Given the description of an element on the screen output the (x, y) to click on. 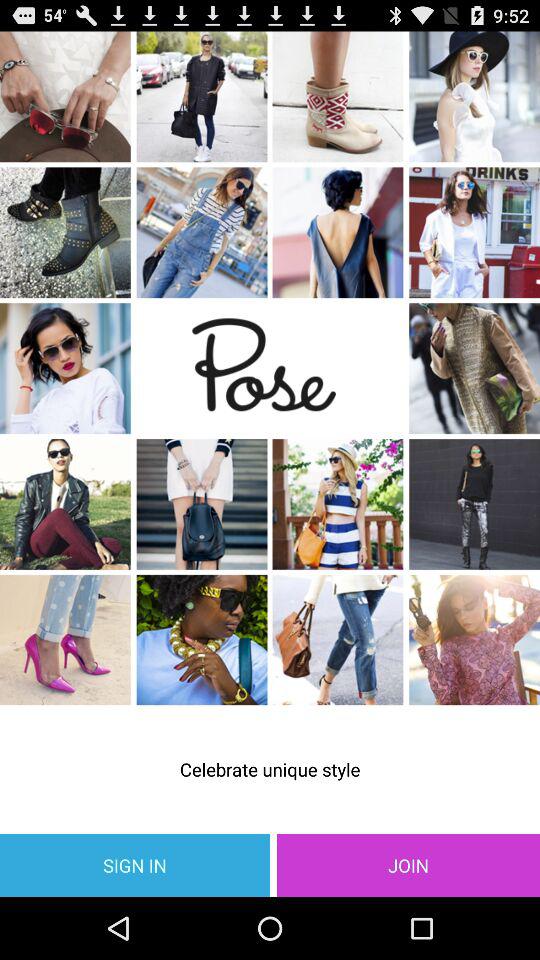
jump to the sign in item (135, 864)
